Given the description of an element on the screen output the (x, y) to click on. 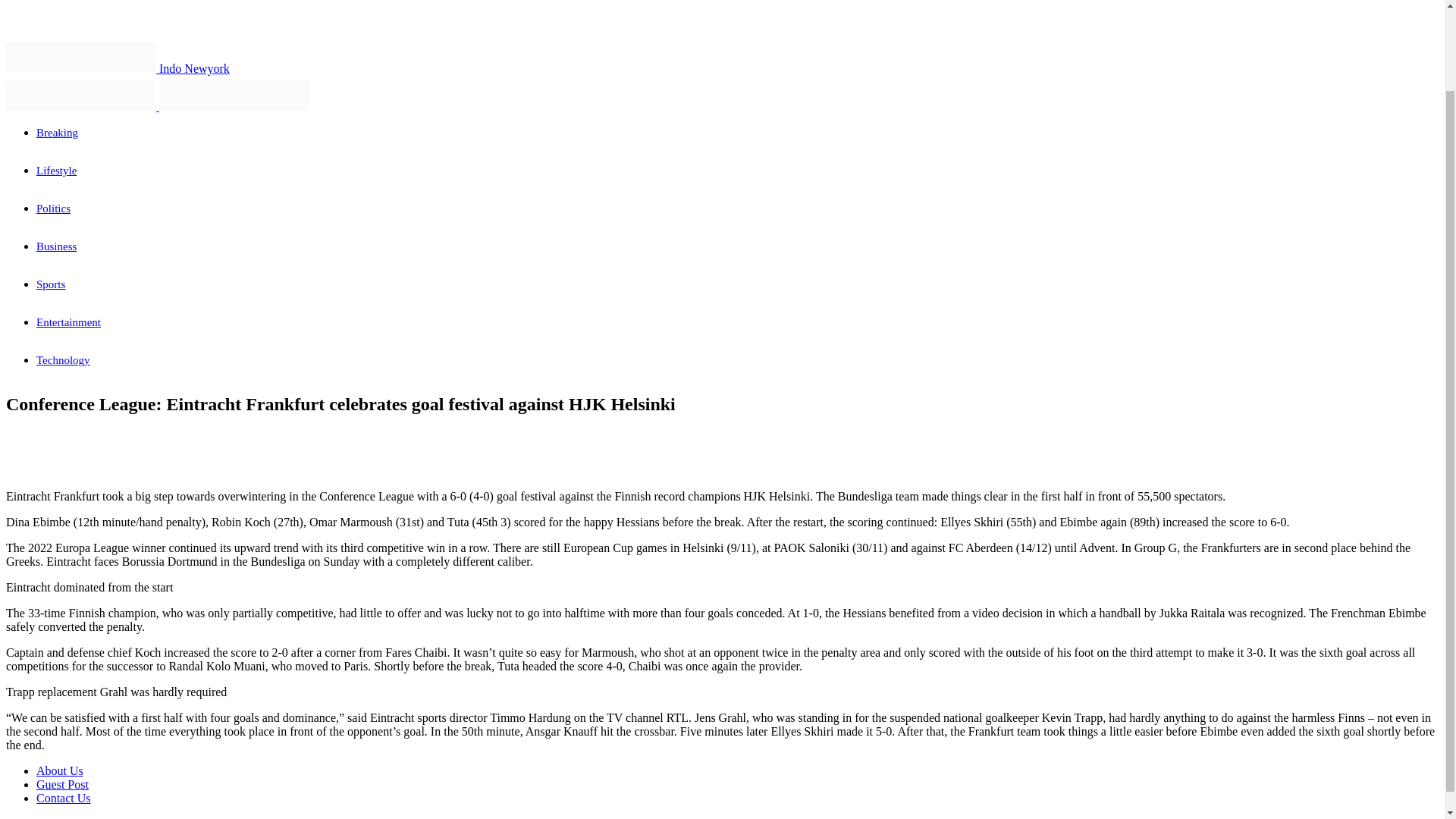
Breaking (57, 132)
Entertainment (68, 322)
Contact Us (63, 797)
Lifestyle (56, 170)
Technology (63, 359)
Politics (52, 208)
Sports (50, 284)
Guest Post (62, 784)
About Us (59, 770)
Business (56, 246)
Indo Newyork (117, 68)
